Given the description of an element on the screen output the (x, y) to click on. 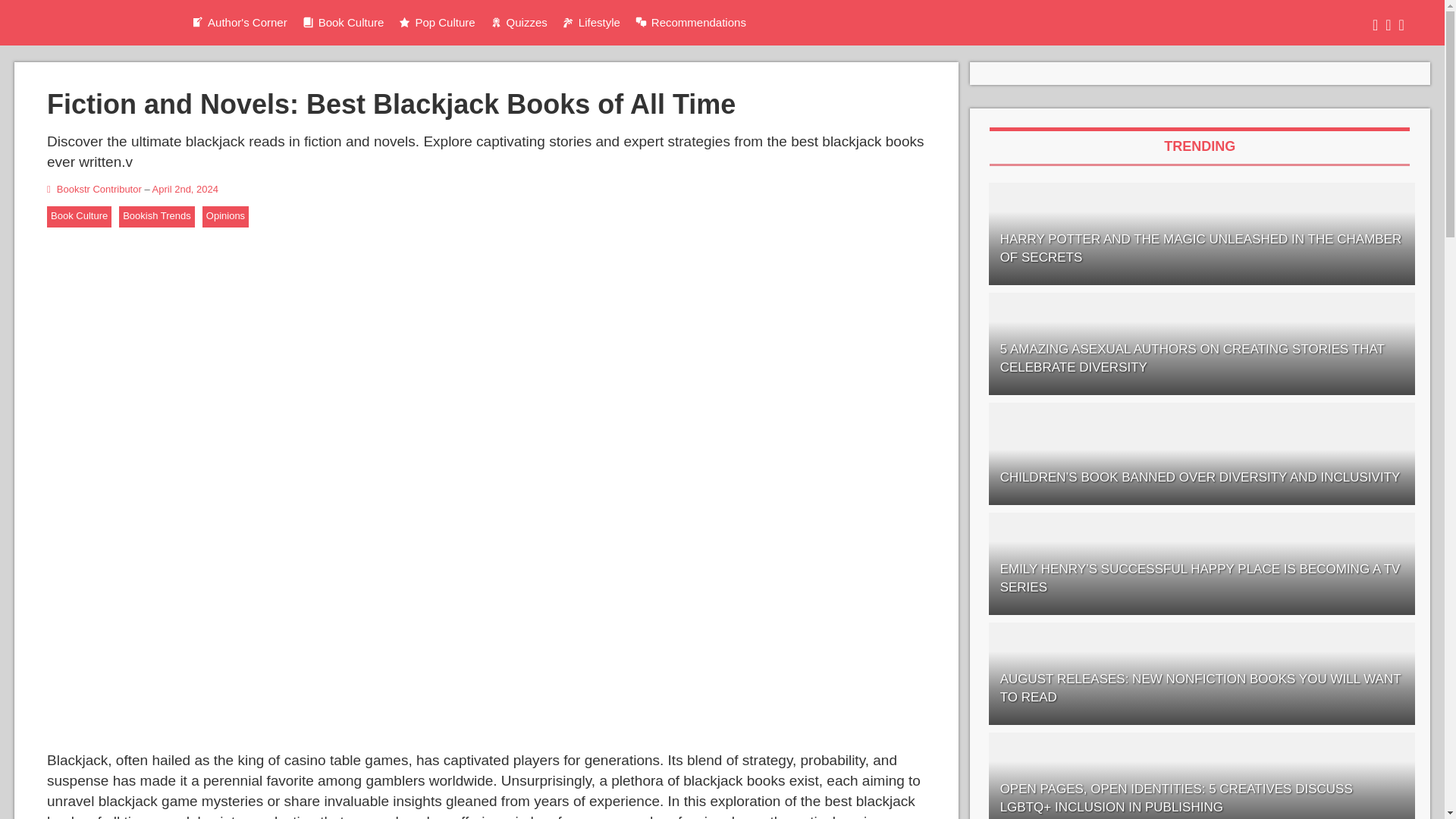
Facebook (1374, 25)
Twitter (1387, 25)
Instagram (1400, 25)
